Given the description of an element on the screen output the (x, y) to click on. 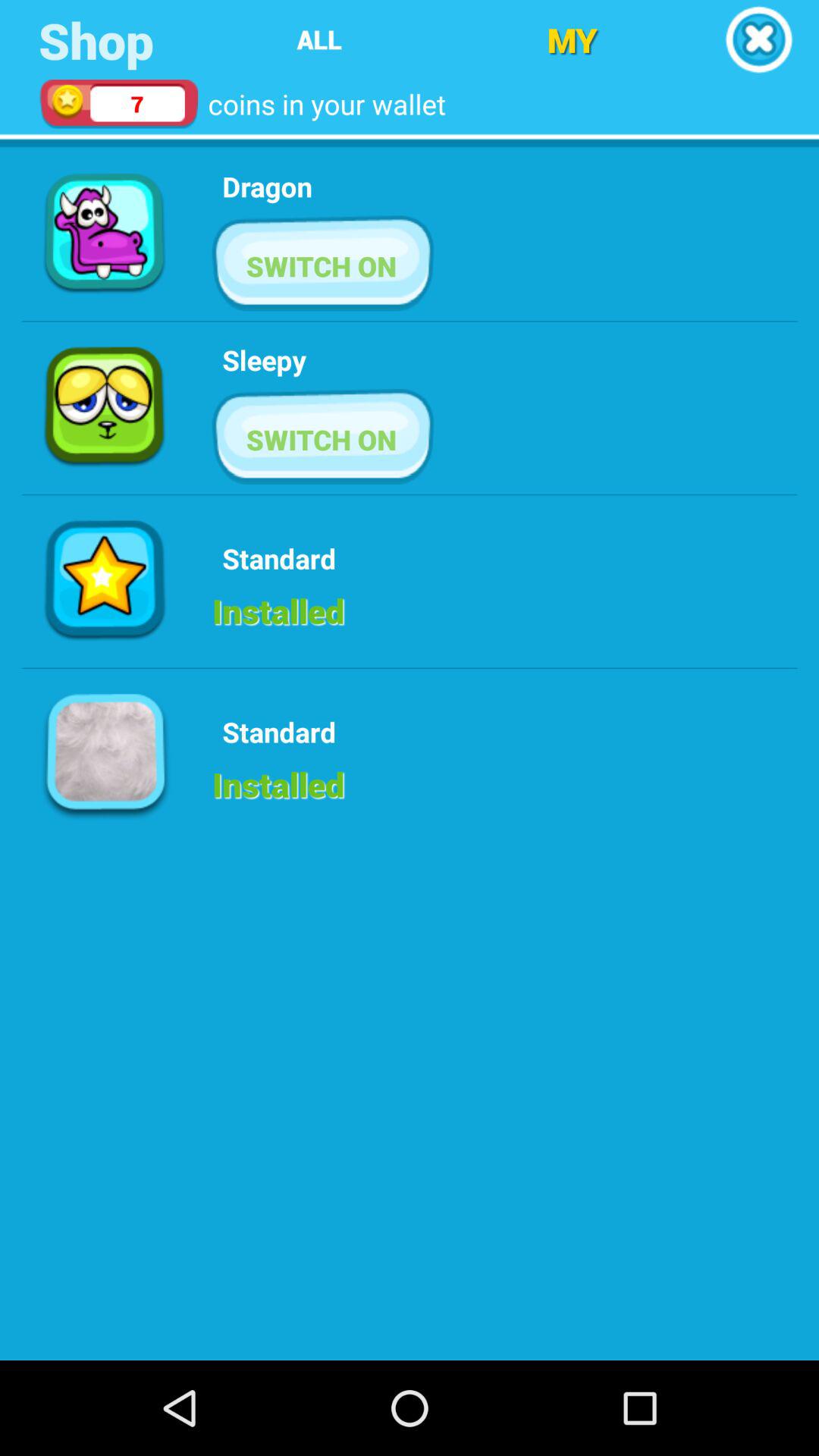
open icon below switch on button (264, 360)
